Given the description of an element on the screen output the (x, y) to click on. 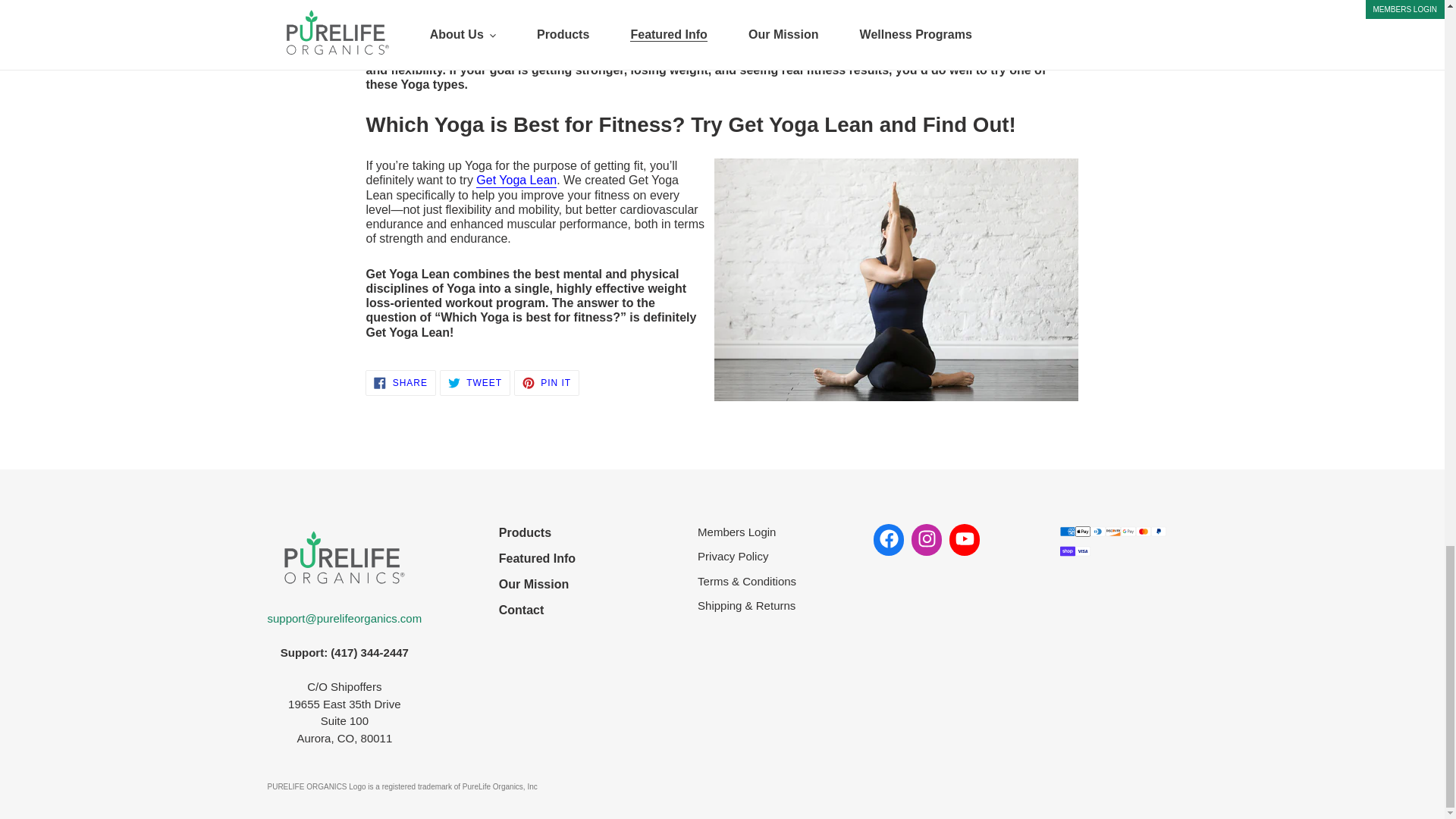
Products (537, 533)
Members Login (746, 532)
Contact (537, 610)
Get Yoga Lean (516, 180)
Privacy Policy (746, 556)
Our Mission (546, 382)
Featured Info (475, 382)
